Given the description of an element on the screen output the (x, y) to click on. 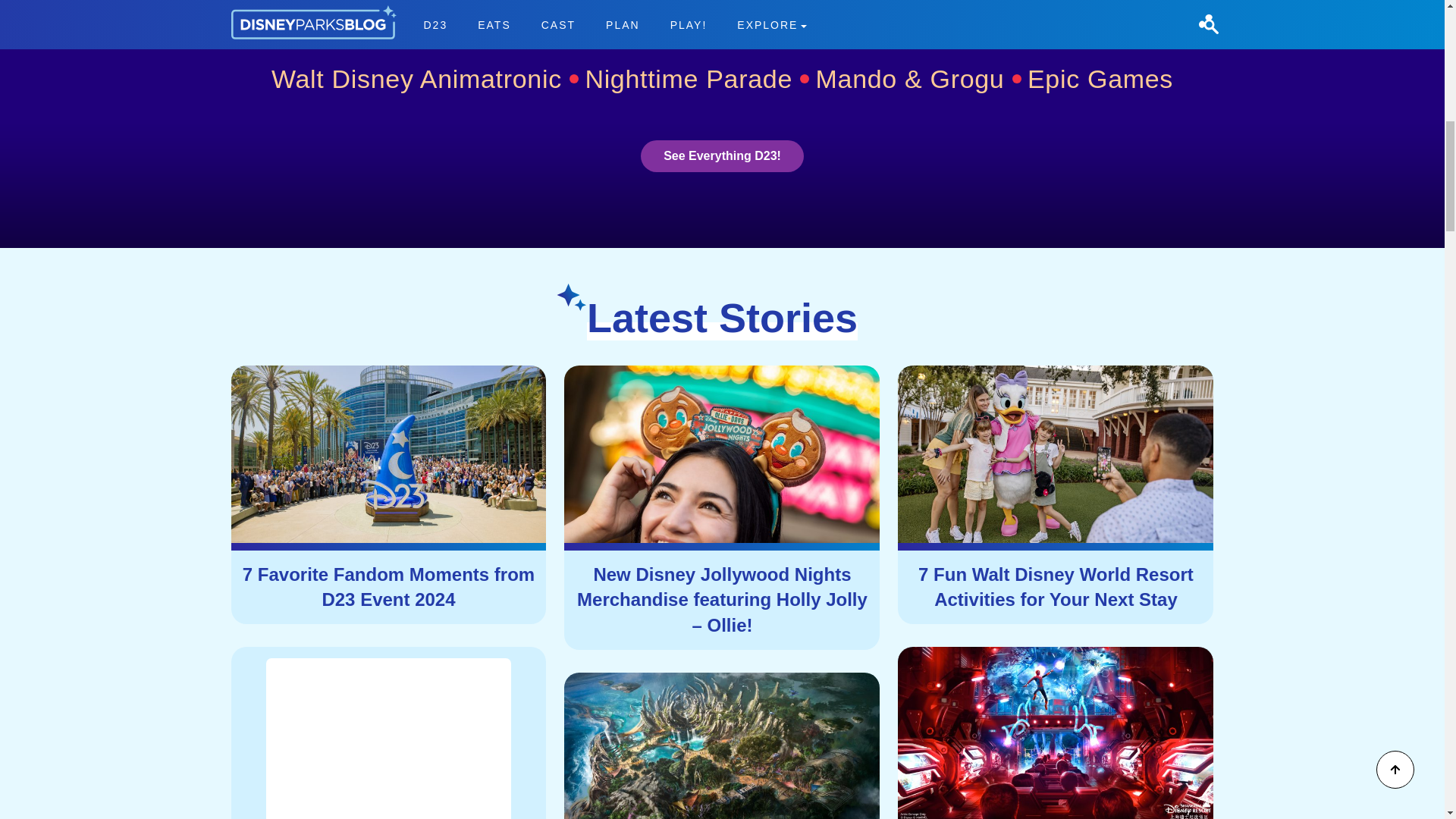
See Everything D23! (721, 155)
Epic Games (1100, 78)
Nighttime Parade (697, 78)
Walt Disney Animatronic (424, 78)
Lion King Ride (809, 18)
Tropical Americas (834, 18)
